Given the description of an element on the screen output the (x, y) to click on. 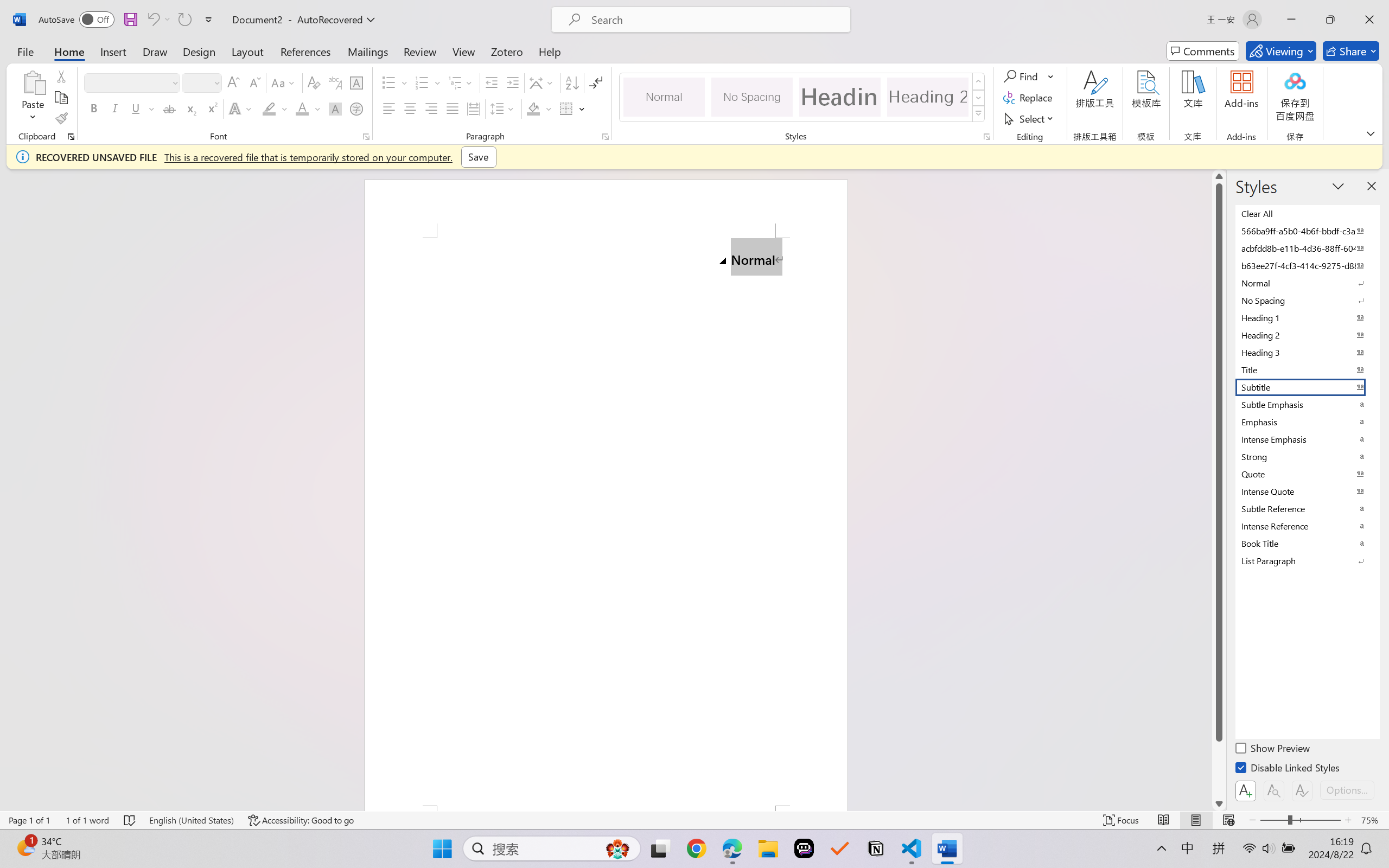
Can't Repeat (184, 19)
AutomationID: QuickStylesGallery (802, 97)
Class: NetUIButton (1301, 790)
Font... (365, 136)
Format Painter (60, 118)
Row Down (978, 97)
Align Right (431, 108)
acbfdd8b-e11b-4d36-88ff-6049b138f862 (1306, 247)
